Given the description of an element on the screen output the (x, y) to click on. 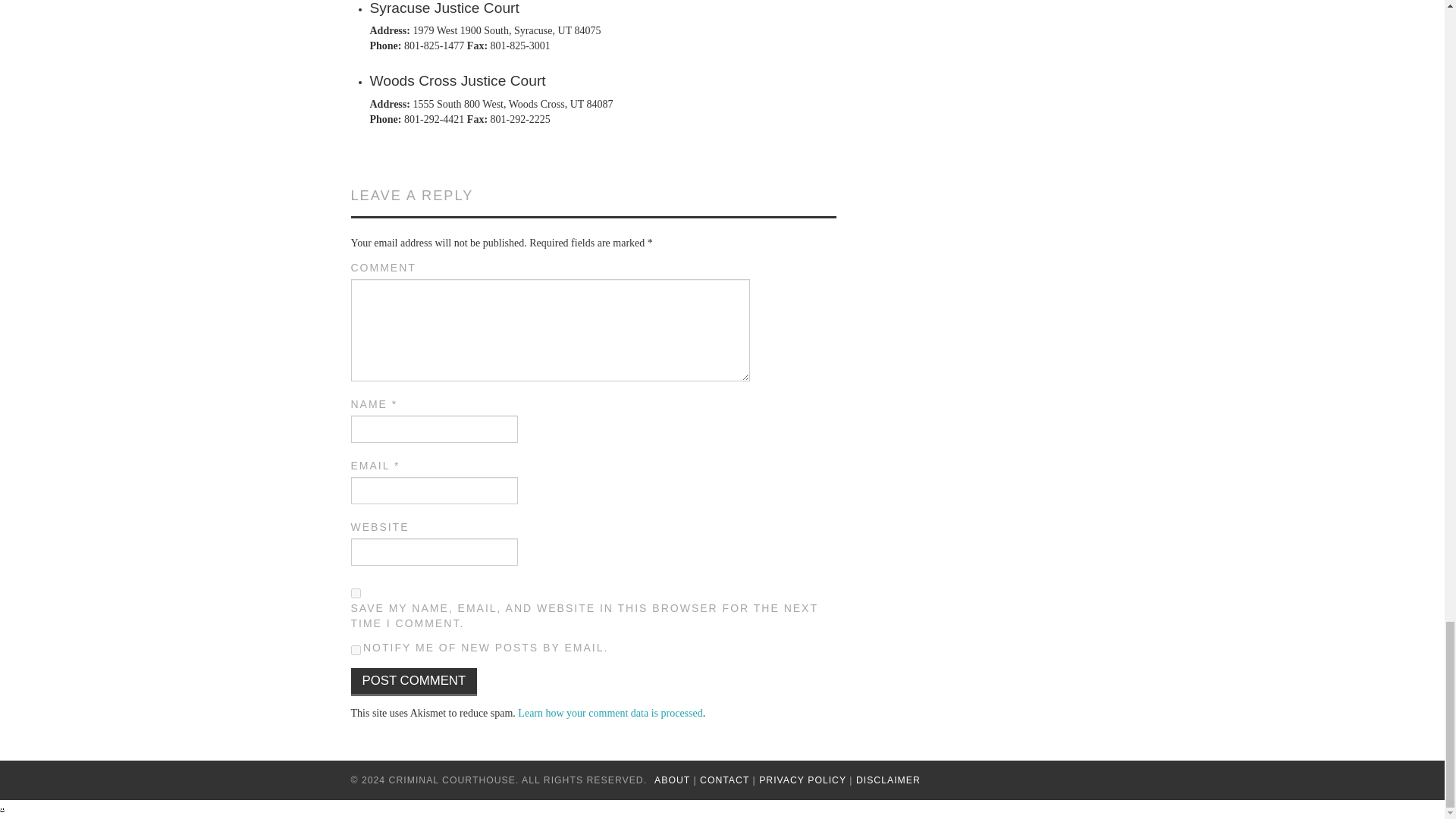
yes (354, 593)
Post Comment (413, 682)
Learn how your comment data is processed (609, 713)
subscribe (354, 650)
Post Comment (413, 682)
